Given the description of an element on the screen output the (x, y) to click on. 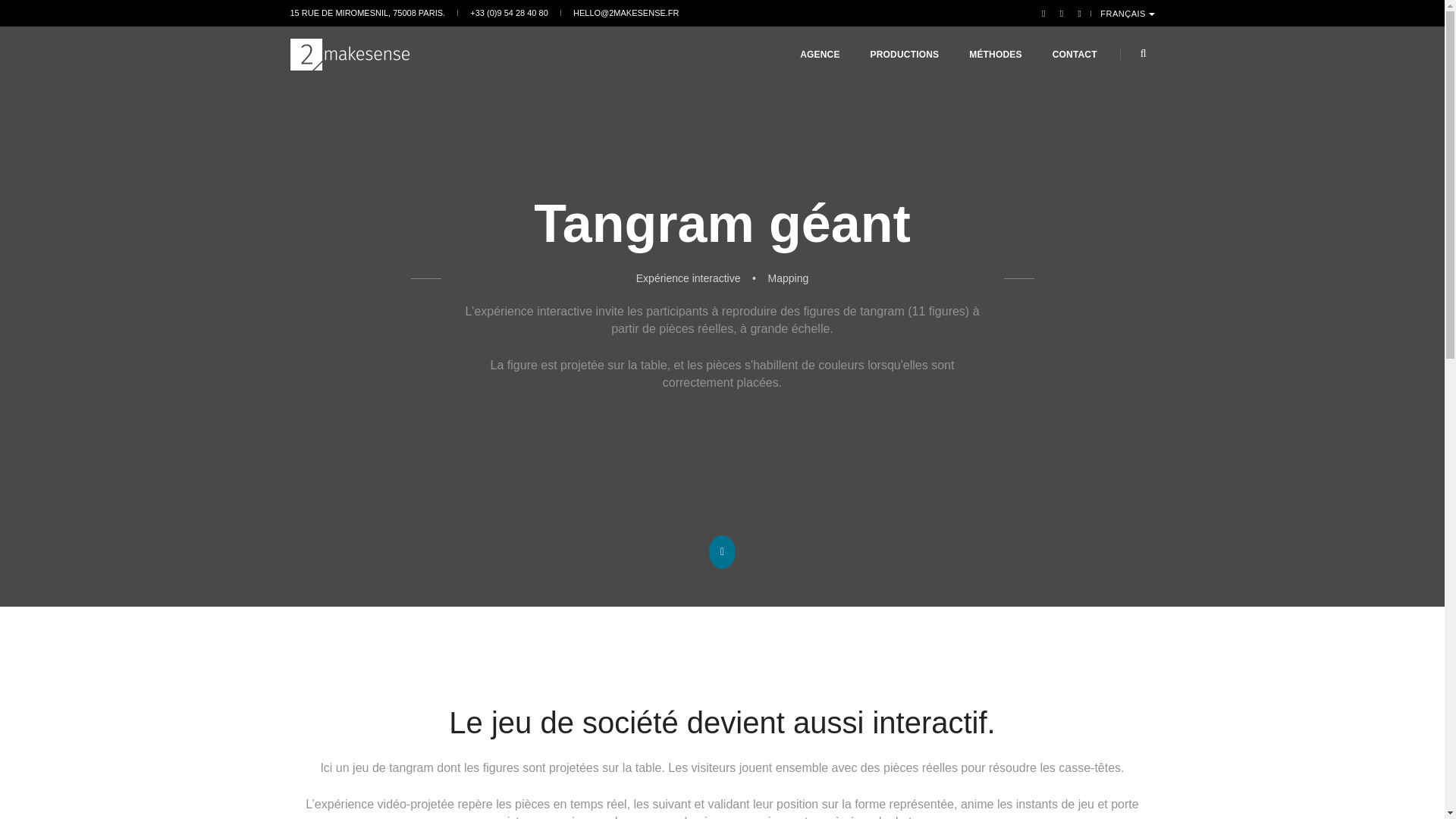
Facebook Element type: hover (1043, 12)
15 RUE DE MIROMESNIL, 75008 PARIS. Element type: text (367, 12)
LinkedIn Element type: hover (1076, 12)
HELLO@2MAKESENSE.FR Element type: text (626, 12)
Twitter Element type: hover (1061, 12)
PRODUCTIONS Element type: text (904, 54)
+33 (0)9 54 28 40 80 Element type: text (508, 12)
AGENCE Element type: text (819, 54)
CONTACT Element type: text (1074, 54)
2makesense Element type: hover (348, 54)
